Given the description of an element on the screen output the (x, y) to click on. 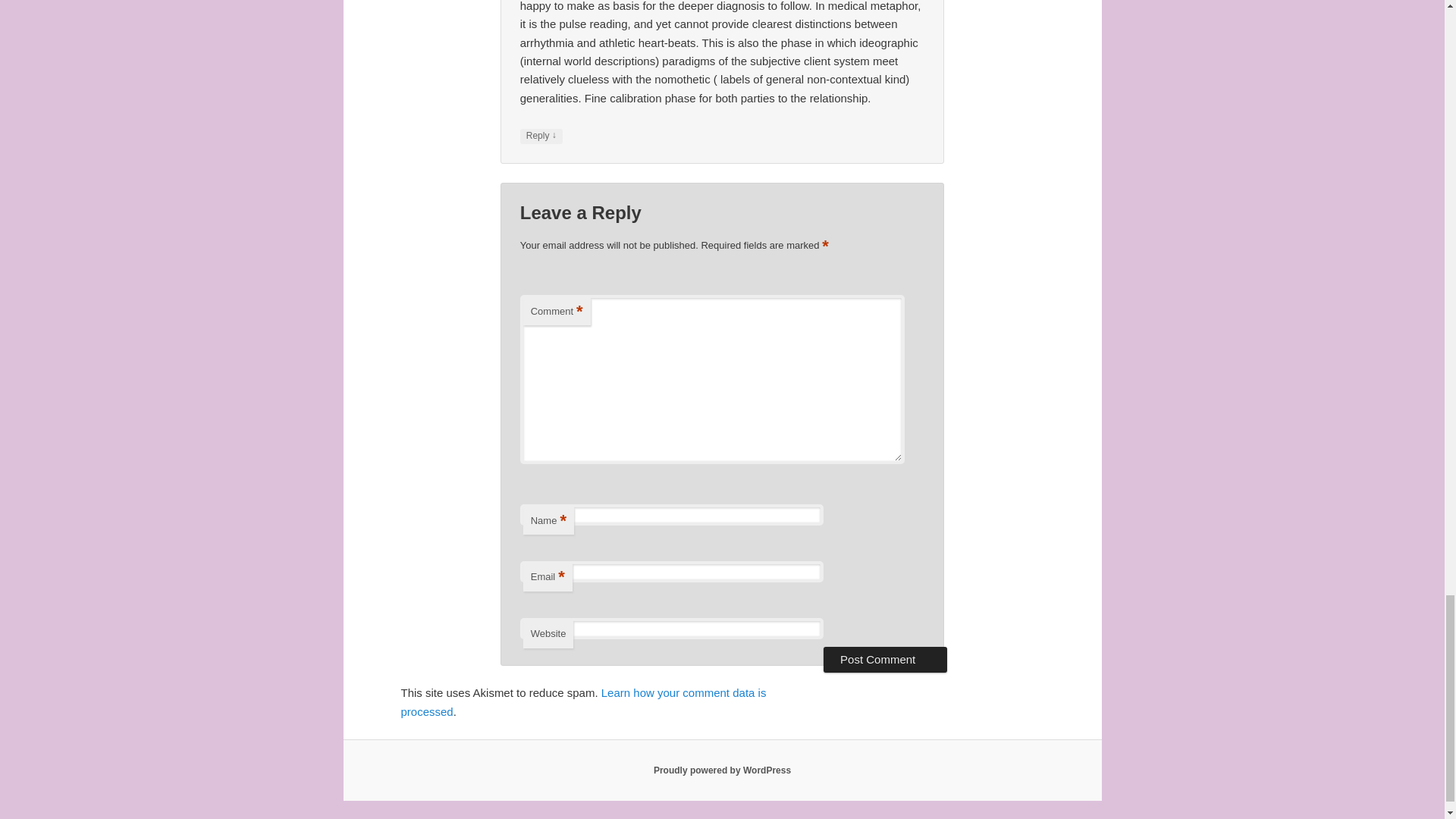
Post Comment (885, 659)
Semantic Personal Publishing Platform (721, 769)
Proudly powered by WordPress (721, 769)
Learn how your comment data is processed (582, 701)
Post Comment (885, 659)
